Given the description of an element on the screen output the (x, y) to click on. 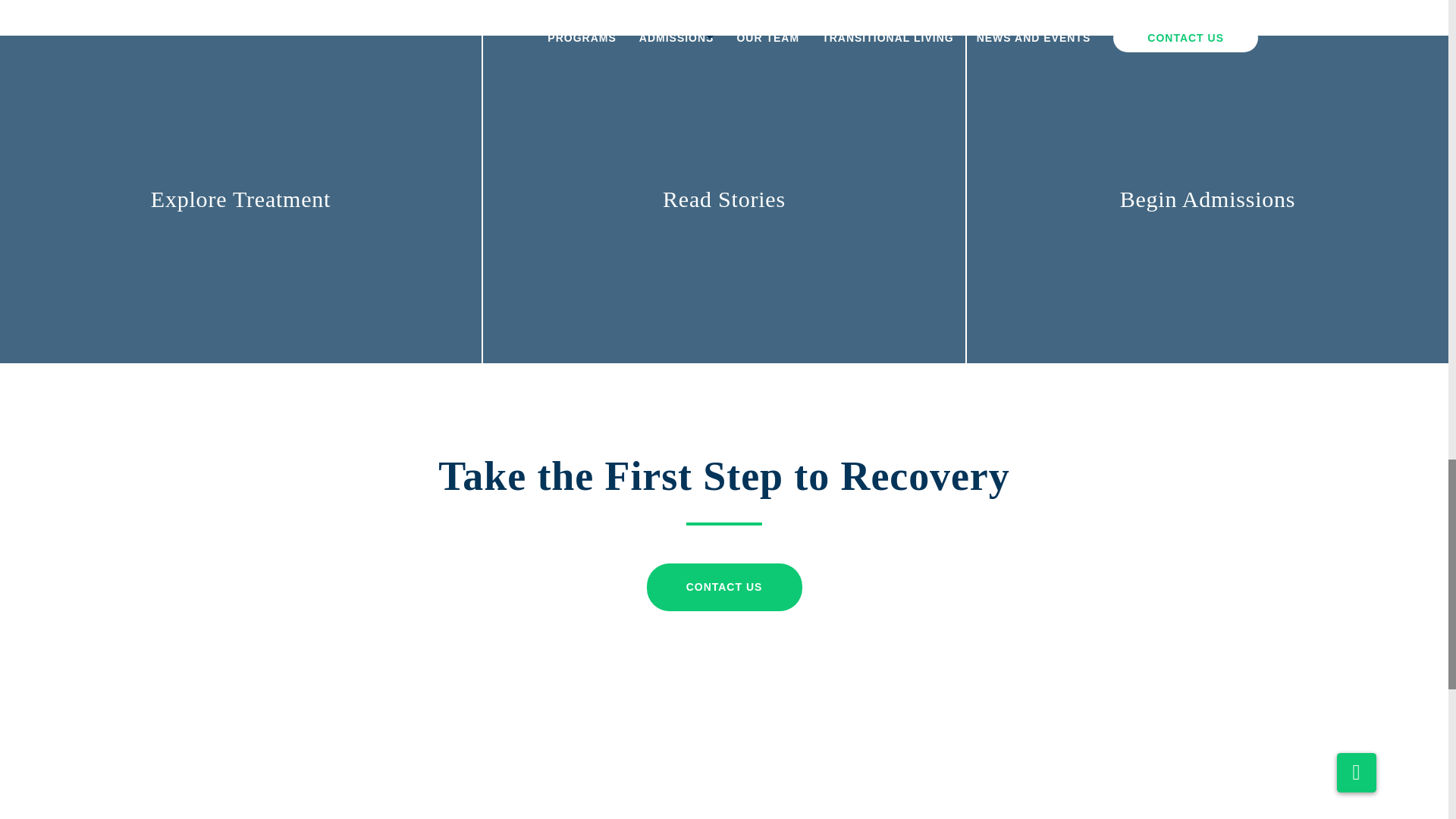
CONTACT US (724, 586)
